Given the description of an element on the screen output the (x, y) to click on. 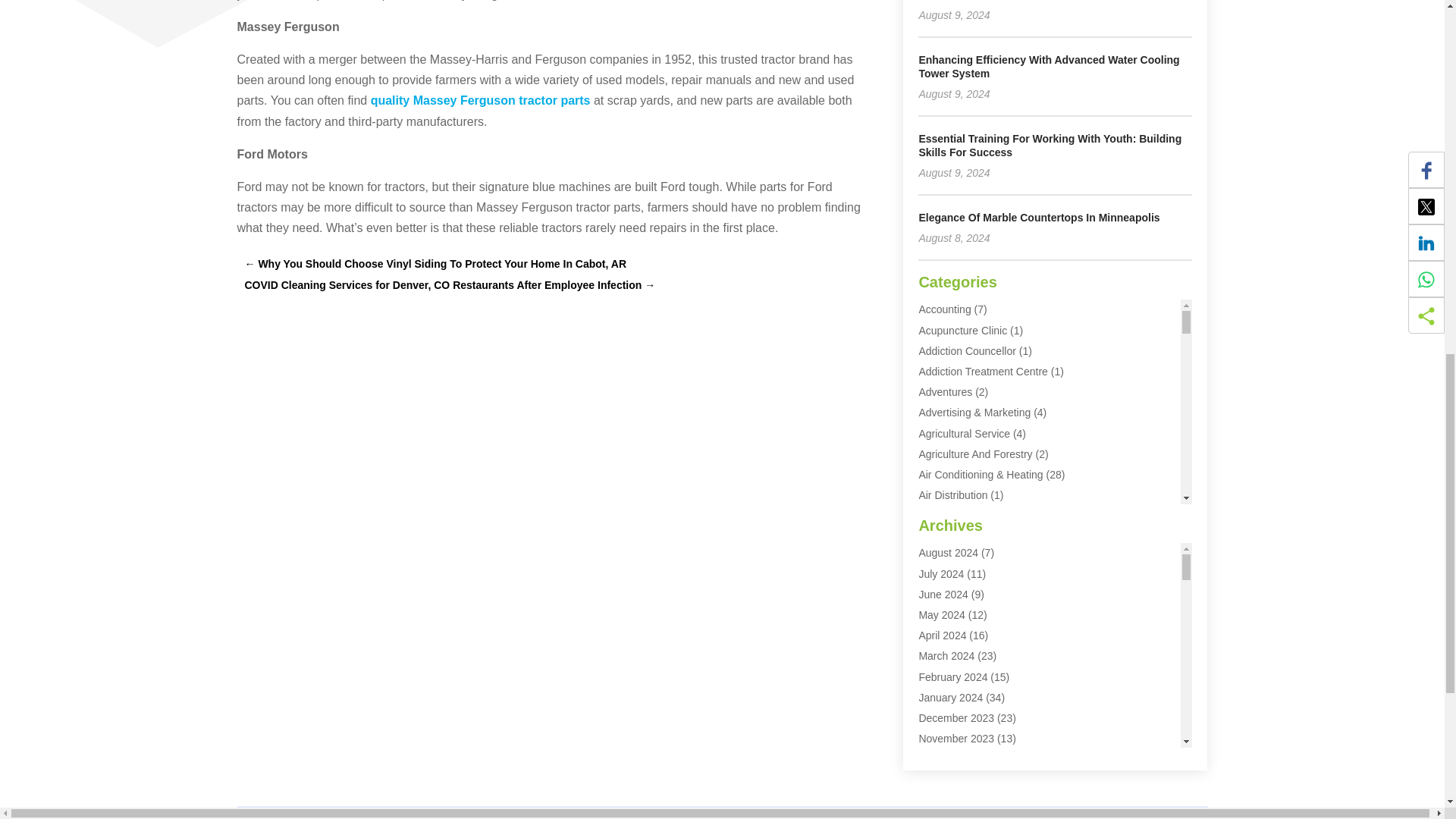
Air Quality Control (961, 515)
Appliances (944, 577)
Acupuncture Clinic (962, 330)
Accounting (944, 309)
quality Massey Ferguson tractor parts (481, 100)
Air Distribution (952, 494)
Animal Hospital (954, 557)
Addiction Treatment Centre (982, 371)
Elegance Of Marble Countertops In Minneapolis (1038, 217)
